Given the description of an element on the screen output the (x, y) to click on. 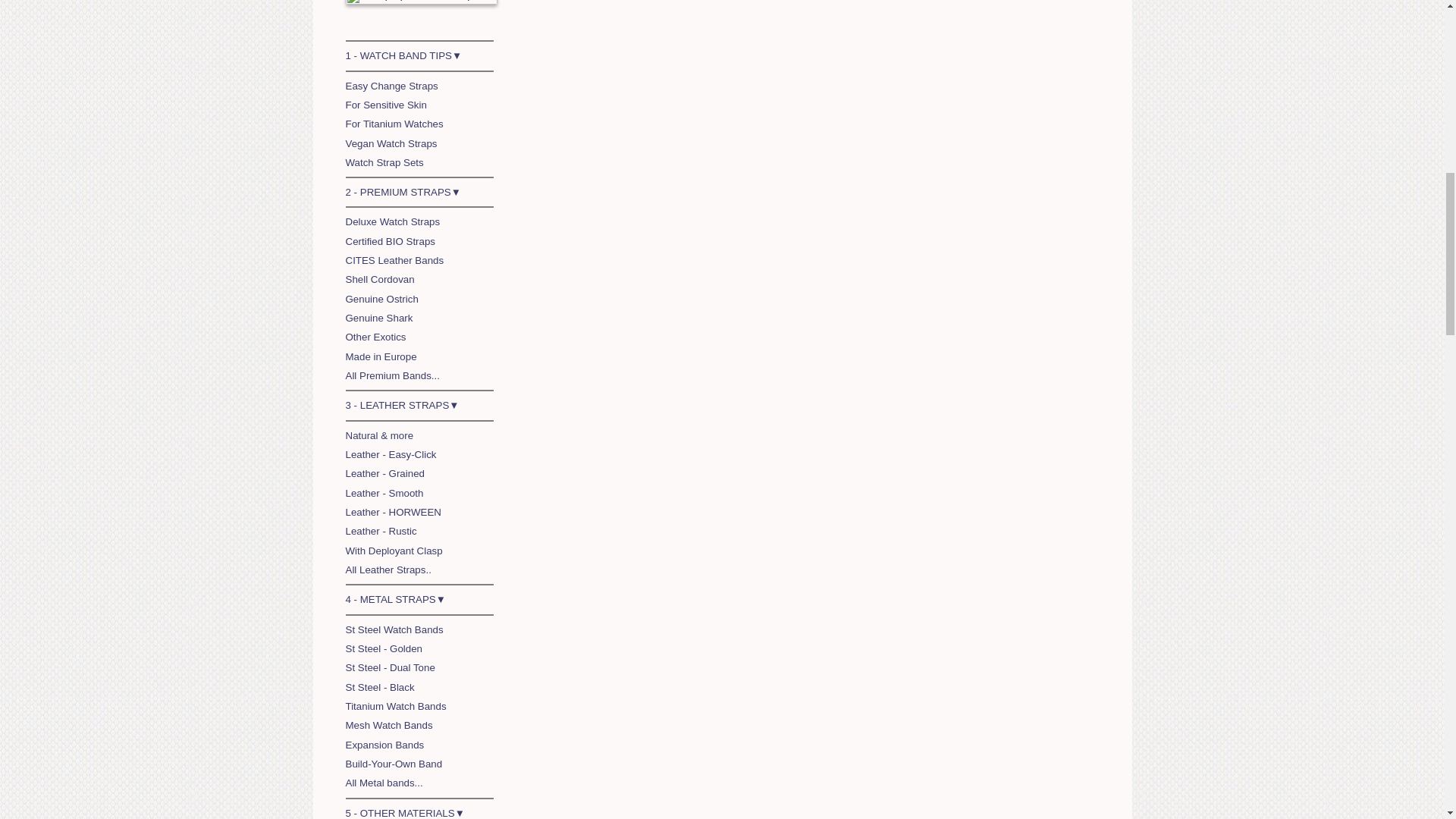
Vegan Watch Straps (392, 143)
For Sensitive Skin (386, 104)
Watch Strap Sets (384, 162)
Genuine Shark (379, 317)
Other Exotics (376, 337)
For Titanium Watches (395, 123)
CITES Leather Bands (395, 260)
Deluxe Watch Straps (393, 221)
Made in Europe (381, 356)
Genuine Ostrich (382, 298)
